Given the description of an element on the screen output the (x, y) to click on. 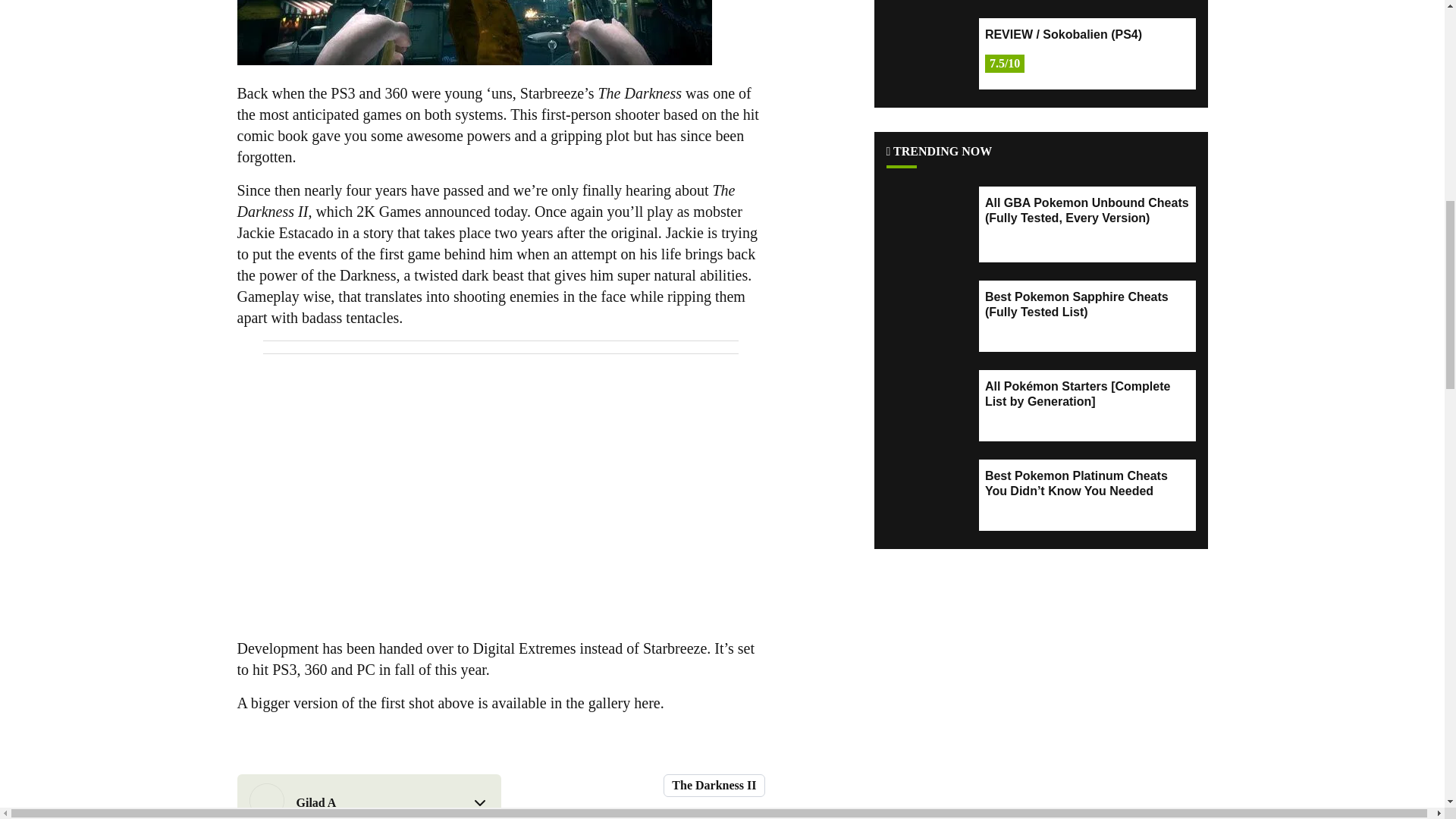
Scroll back to top (1406, 708)
